Given the description of an element on the screen output the (x, y) to click on. 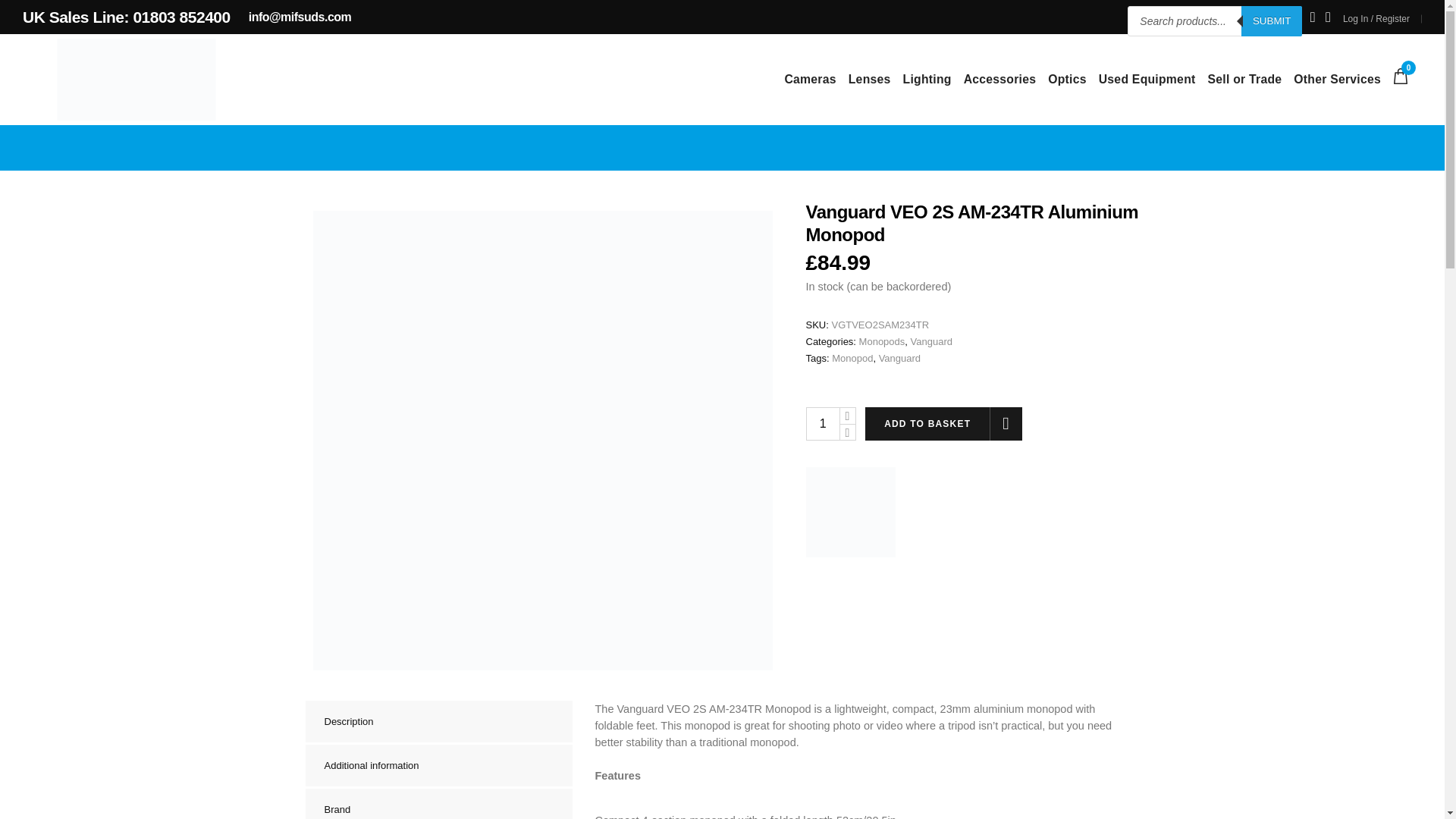
1 (821, 423)
Qty (821, 423)
U (1054, 422)
Vanguard (850, 511)
Accessories (1000, 79)
SUBMIT (1271, 20)
